Given the description of an element on the screen output the (x, y) to click on. 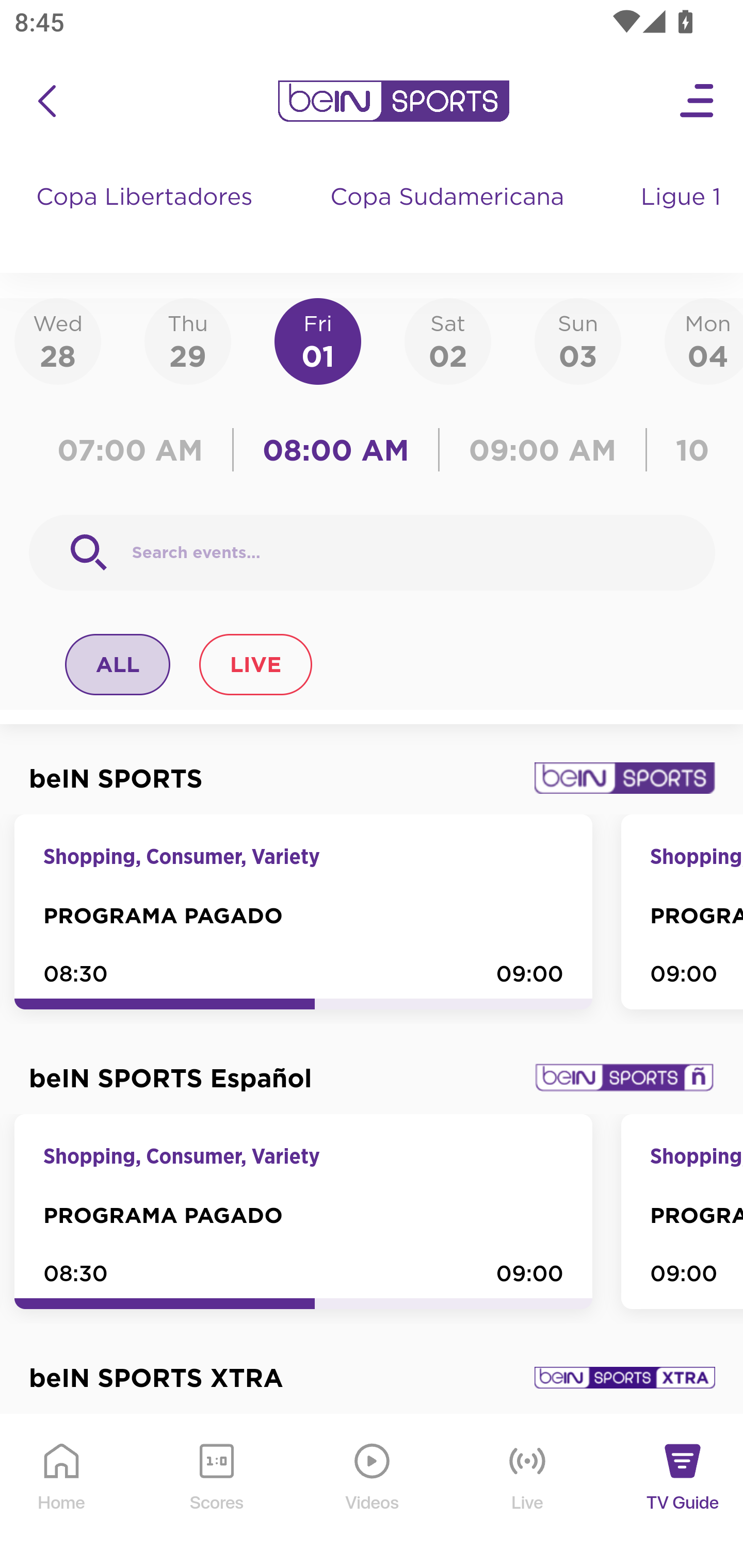
en-us?platform=mobile_android bein logo (392, 101)
icon back (46, 101)
Open Menu Icon (697, 101)
Copa Libertadores (146, 216)
Copa Sudamericana (448, 216)
Ligue 1 (682, 216)
Wed28 (58, 340)
Thu29 (187, 340)
Fri01 (318, 340)
Sat02 (447, 340)
Sun03 (578, 340)
Mon04 (703, 340)
07:00 AM (135, 449)
08:00 AM (336, 449)
09:00 AM (542, 449)
ALL (118, 663)
LIVE (255, 663)
Home Home Icon Home (61, 1491)
Scores Scores Icon Scores (216, 1491)
Videos Videos Icon Videos (372, 1491)
TV Guide TV Guide Icon TV Guide (682, 1491)
